Given the description of an element on the screen output the (x, y) to click on. 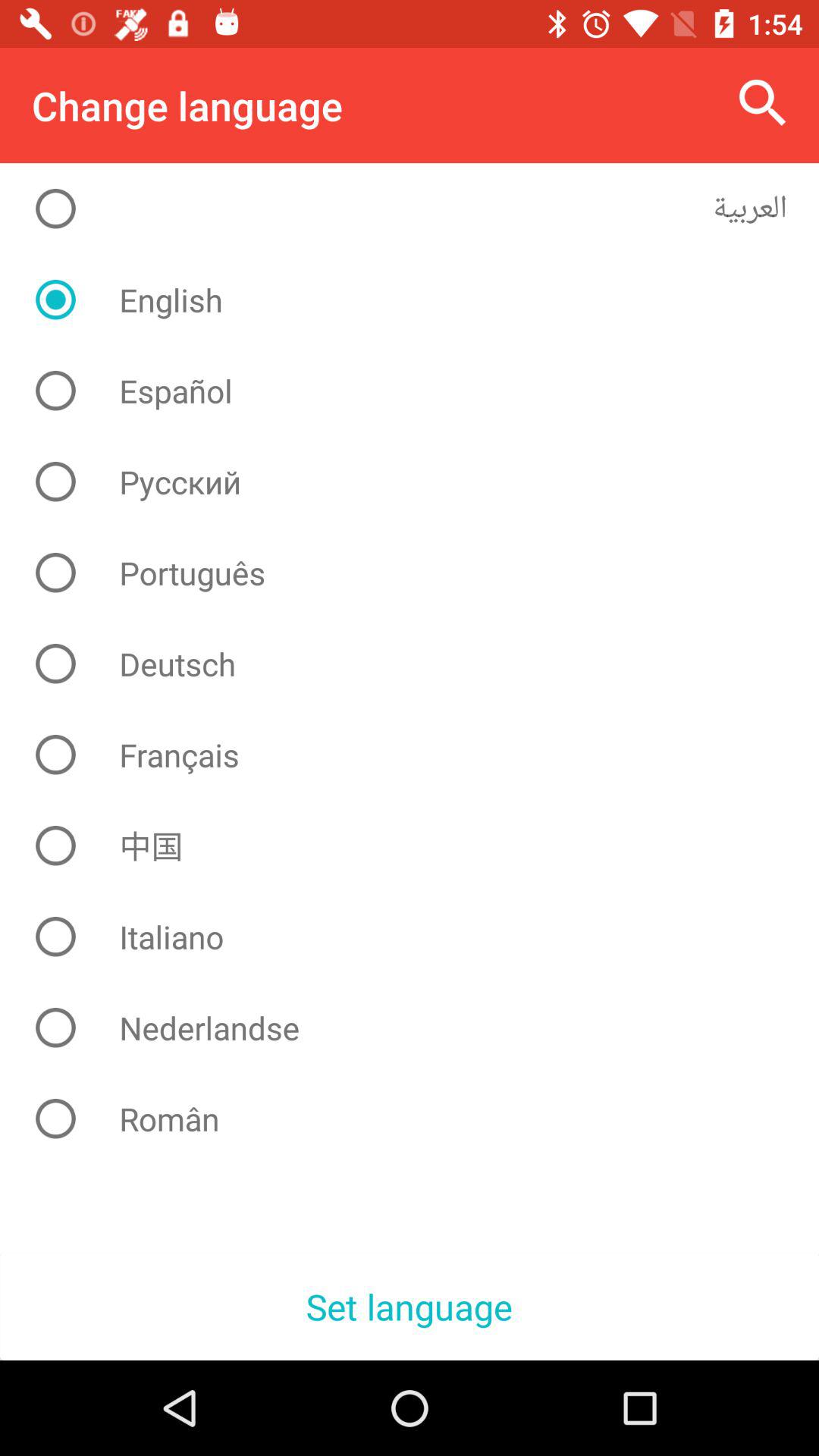
turn off icon below the english icon (421, 390)
